Given the description of an element on the screen output the (x, y) to click on. 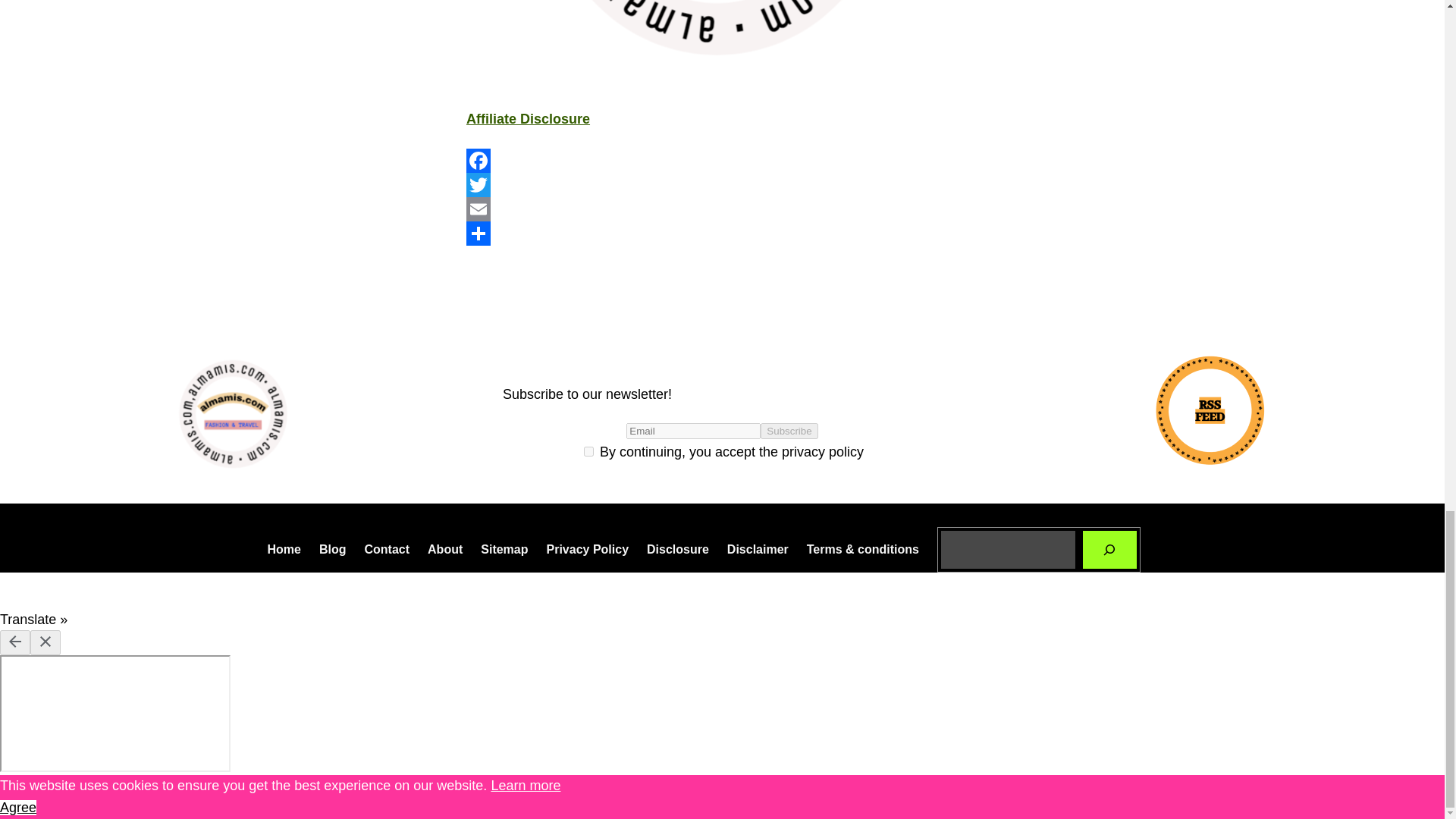
Facebook (721, 160)
Contact (386, 549)
Twitter (721, 184)
Disclaimer (757, 549)
Affiliate Disclosure (527, 118)
About (445, 549)
Blog (332, 549)
Facebook (721, 160)
Home (282, 549)
Subscribe (788, 430)
Twitter (721, 184)
Email (721, 209)
Disclosure (677, 549)
on (588, 451)
Sitemap (503, 549)
